Given the description of an element on the screen output the (x, y) to click on. 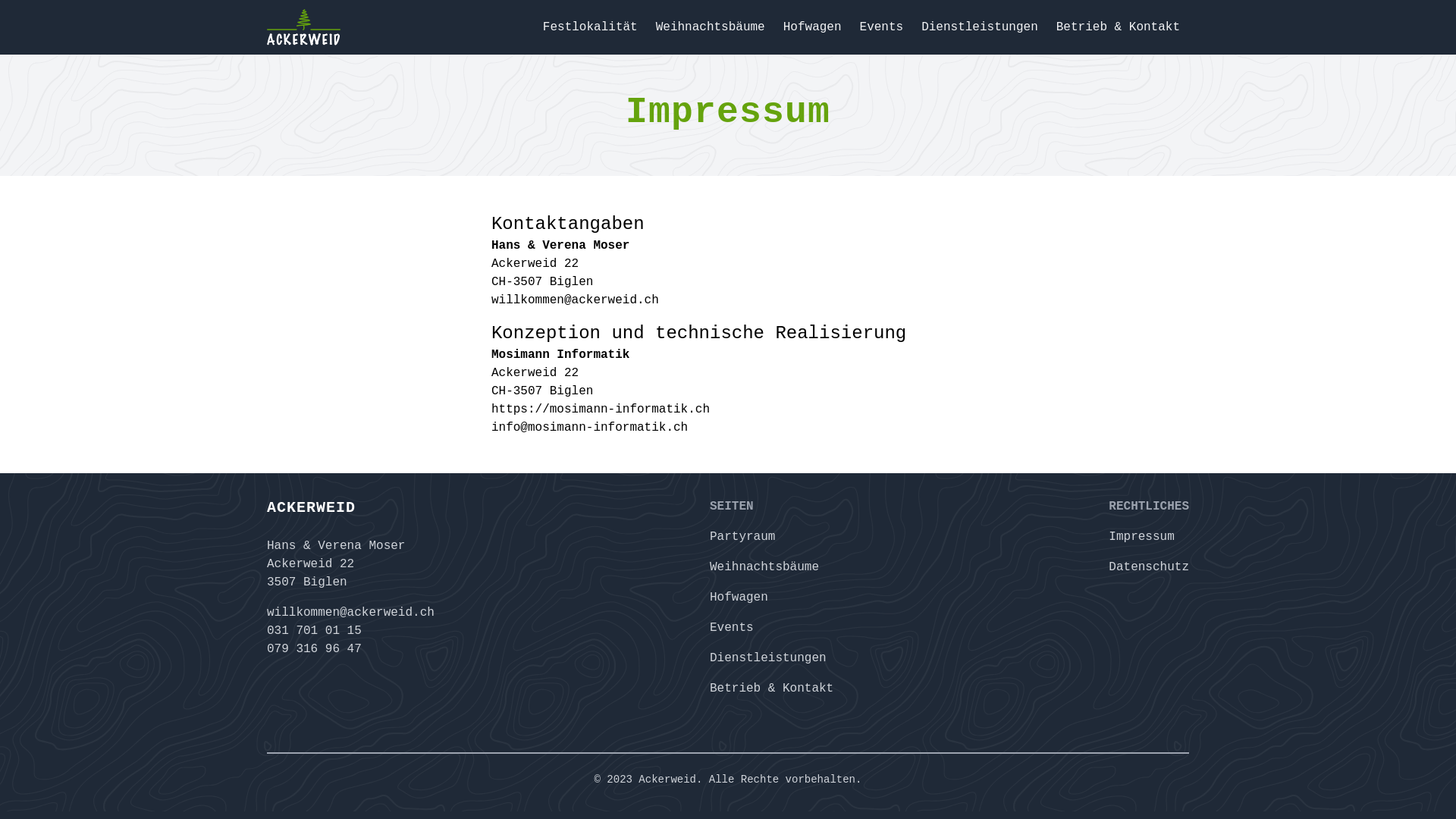
https://mosimann-informatik.ch Element type: text (600, 409)
031 701 01 15 Element type: text (313, 630)
Datenschutz Element type: text (1148, 567)
079 316 96 47 Element type: text (313, 648)
Hofwagen Element type: text (812, 27)
Dienstleistungen Element type: text (767, 658)
Betrieb & Kontakt Element type: text (771, 688)
Events Element type: text (881, 27)
Dienstleistungen Element type: text (979, 27)
Impressum Element type: text (1140, 536)
info@mosimann-informatik.ch Element type: text (589, 427)
Partyraum Element type: text (742, 536)
Hofwagen Element type: text (738, 597)
willkommen@ackerweid.ch Element type: text (574, 300)
ACKERWEID Element type: text (350, 507)
Betrieb & Kontakt Element type: text (1118, 27)
willkommen@ackerweid.ch Element type: text (350, 612)
Events Element type: text (731, 627)
